Given the description of an element on the screen output the (x, y) to click on. 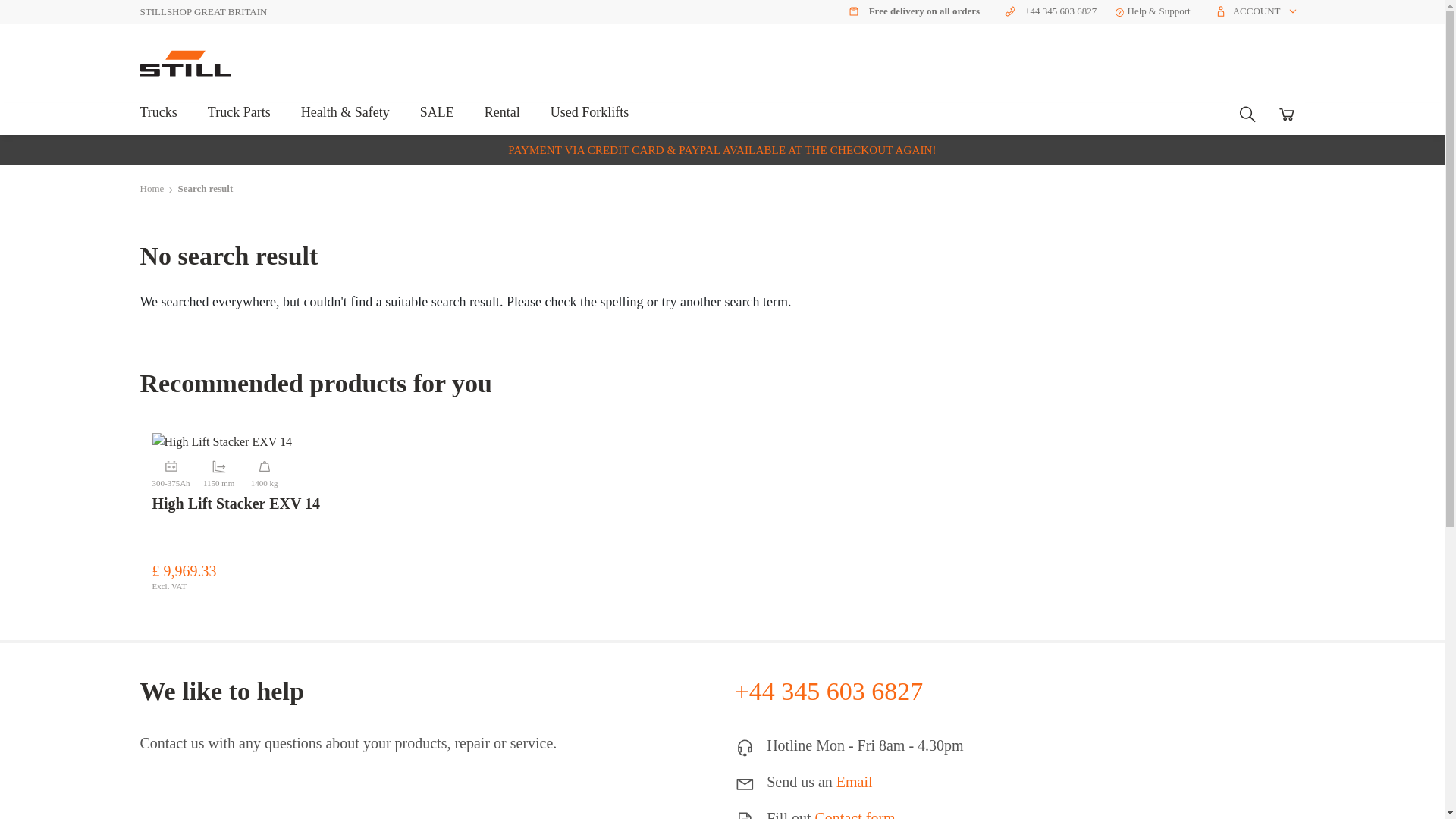
Load Capacity (264, 471)
STILLSHOP GREAT BRITAIN (202, 11)
Truck Parts (239, 119)
Trucks (157, 119)
Battery (170, 471)
Home (151, 188)
Contact form (855, 814)
Free delivery on all orders (910, 10)
Fork Length (218, 471)
Email (853, 781)
